Given the description of an element on the screen output the (x, y) to click on. 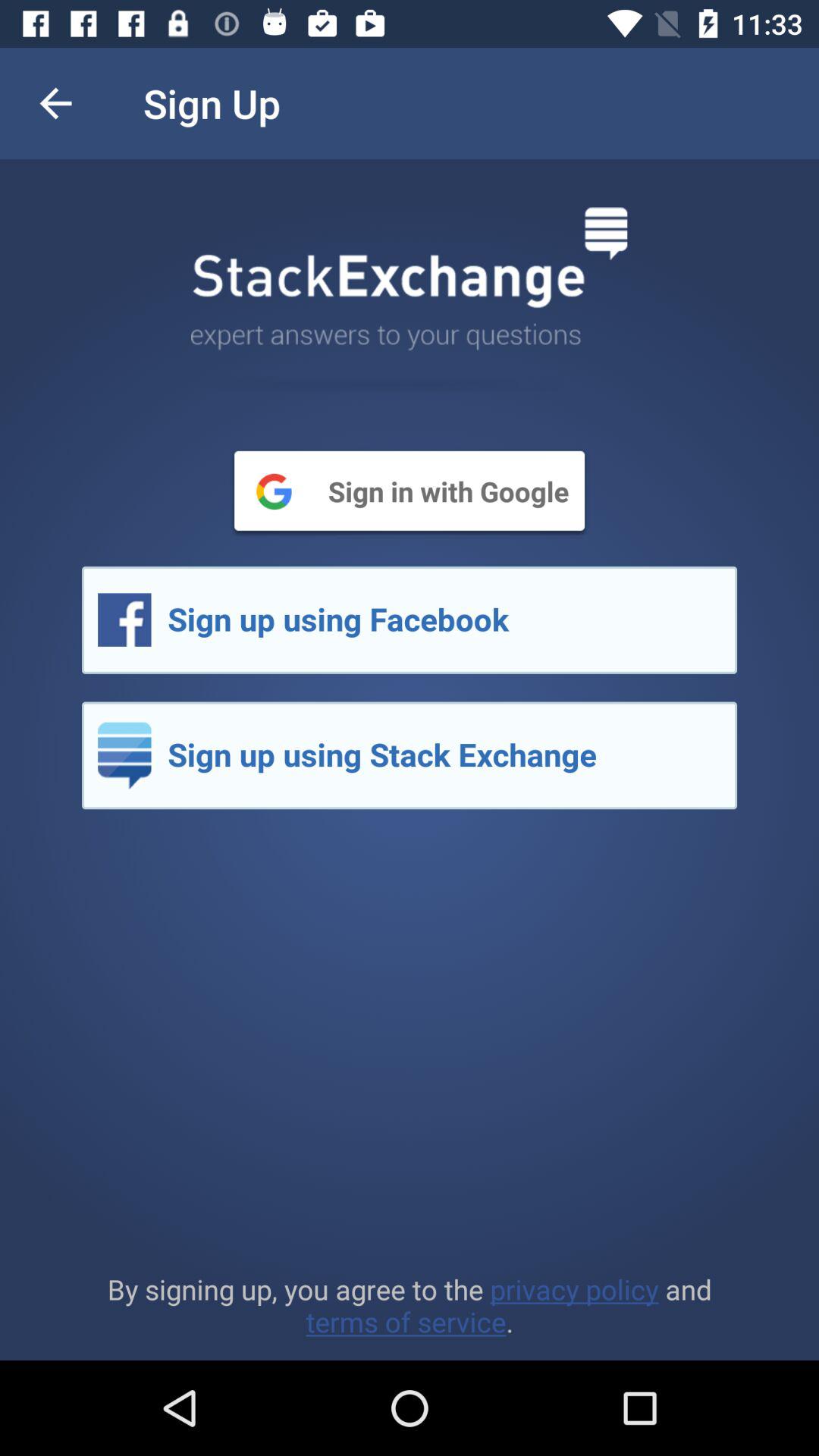
tap sign in with (409, 490)
